Given the description of an element on the screen output the (x, y) to click on. 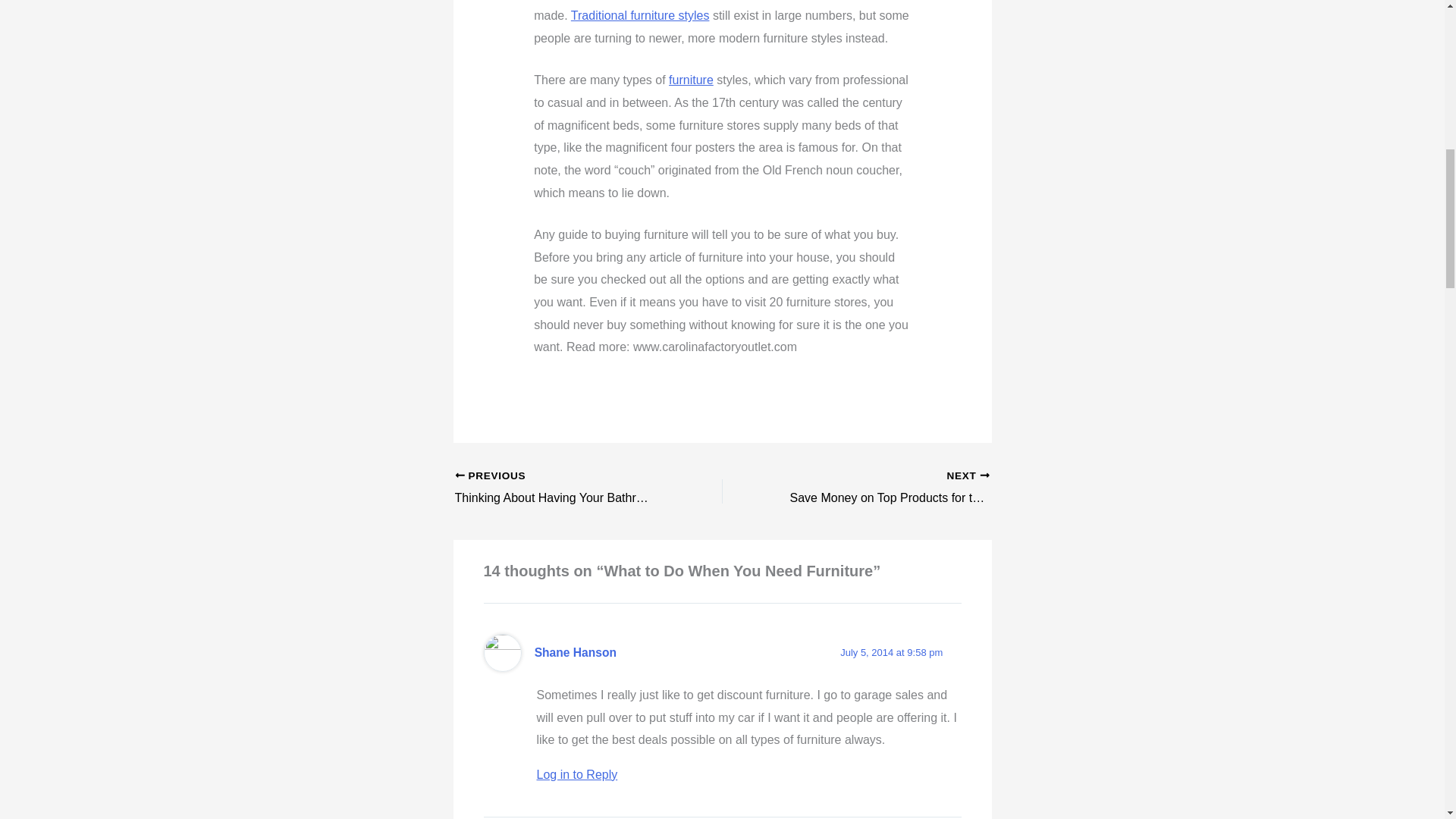
Furniture stores in tampa florida (640, 15)
Save Money on Top Products for the Home (882, 487)
furniture (690, 79)
July 5, 2014 at 9:58 pm (891, 652)
Furniture stores spring hill fl (690, 79)
Shane Hanson (882, 487)
Log in to Reply (574, 652)
